Given the description of an element on the screen output the (x, y) to click on. 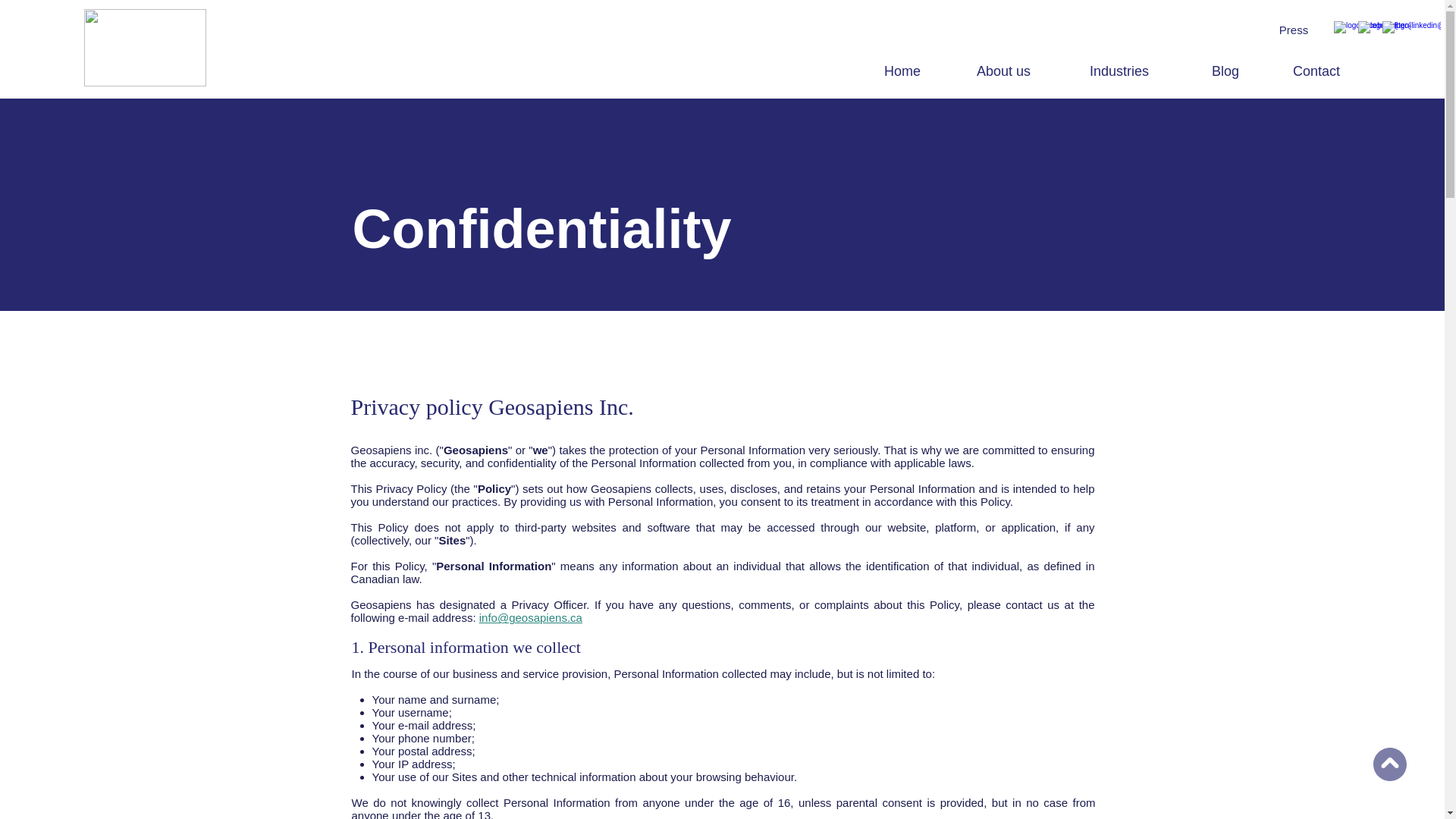
Home (918, 71)
Press (1293, 29)
About us (1021, 71)
Contact (1335, 71)
GEOs-Logo-vertical.png (145, 47)
Industries (1138, 71)
Blog (1240, 71)
